Given the description of an element on the screen output the (x, y) to click on. 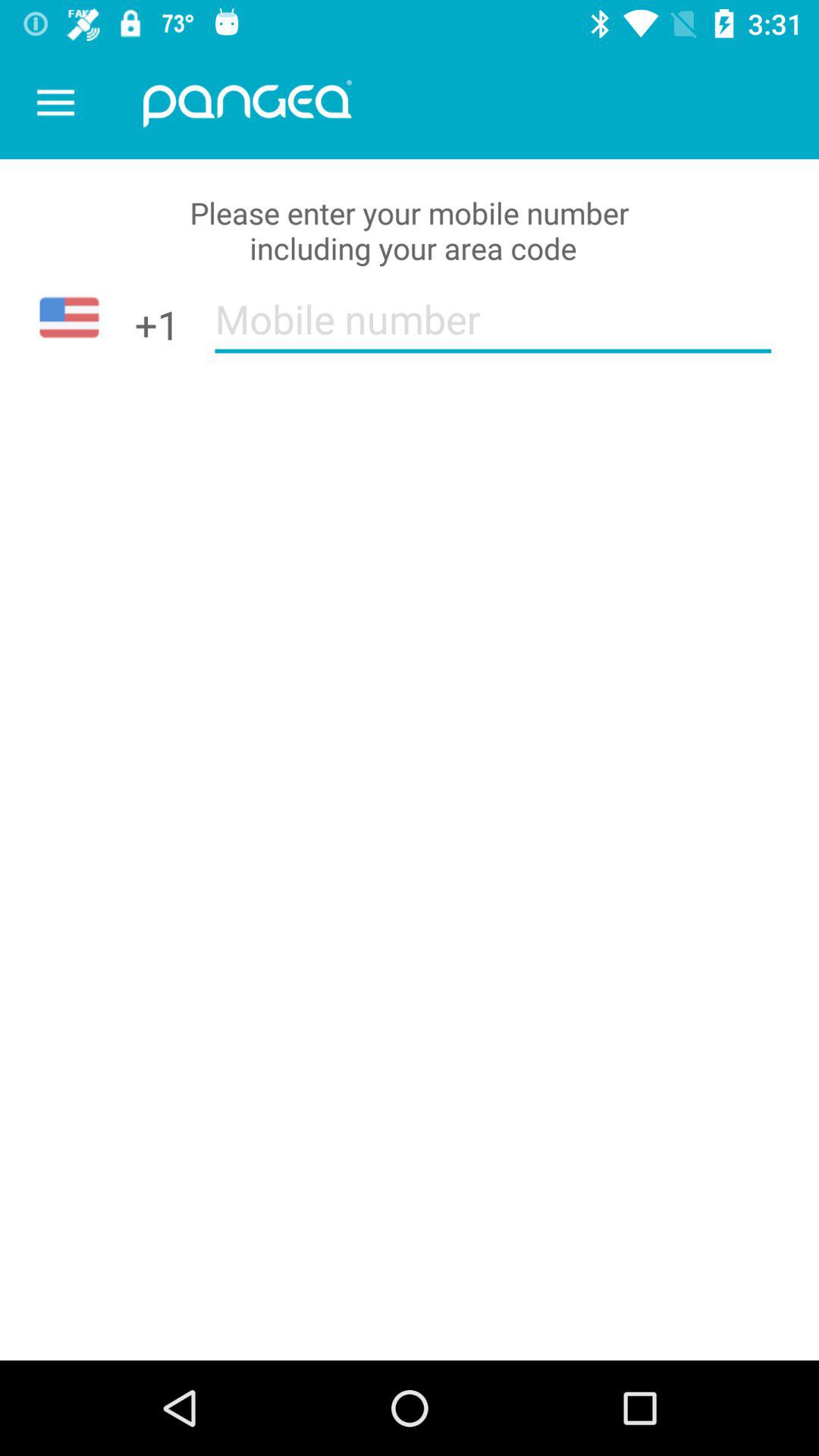
choose item below please enter your item (493, 329)
